Given the description of an element on the screen output the (x, y) to click on. 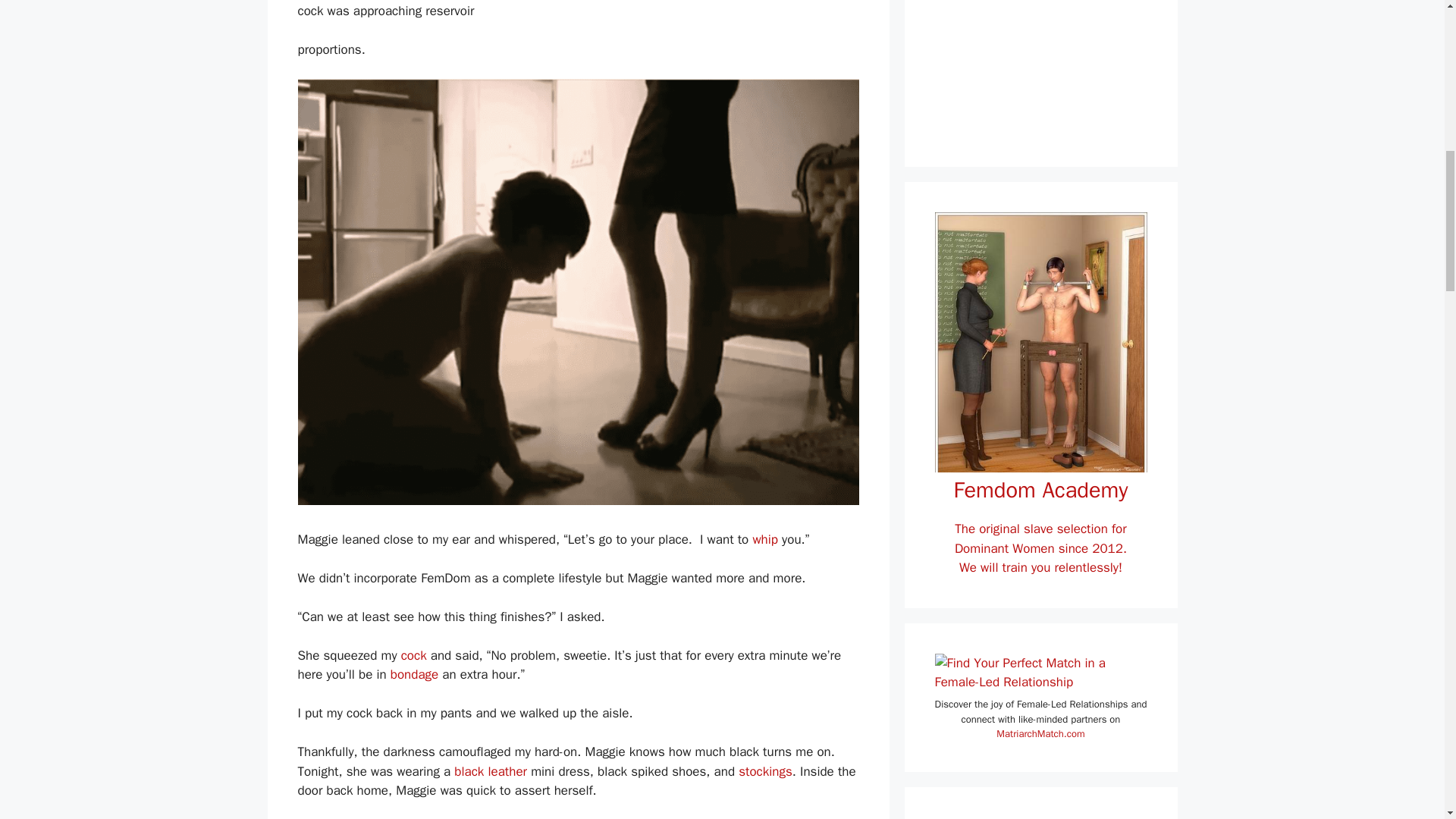
whip (764, 539)
cock (413, 655)
matriarchy dating (1040, 672)
bondage (414, 674)
stockings (765, 771)
black leather (490, 771)
